Given the description of an element on the screen output the (x, y) to click on. 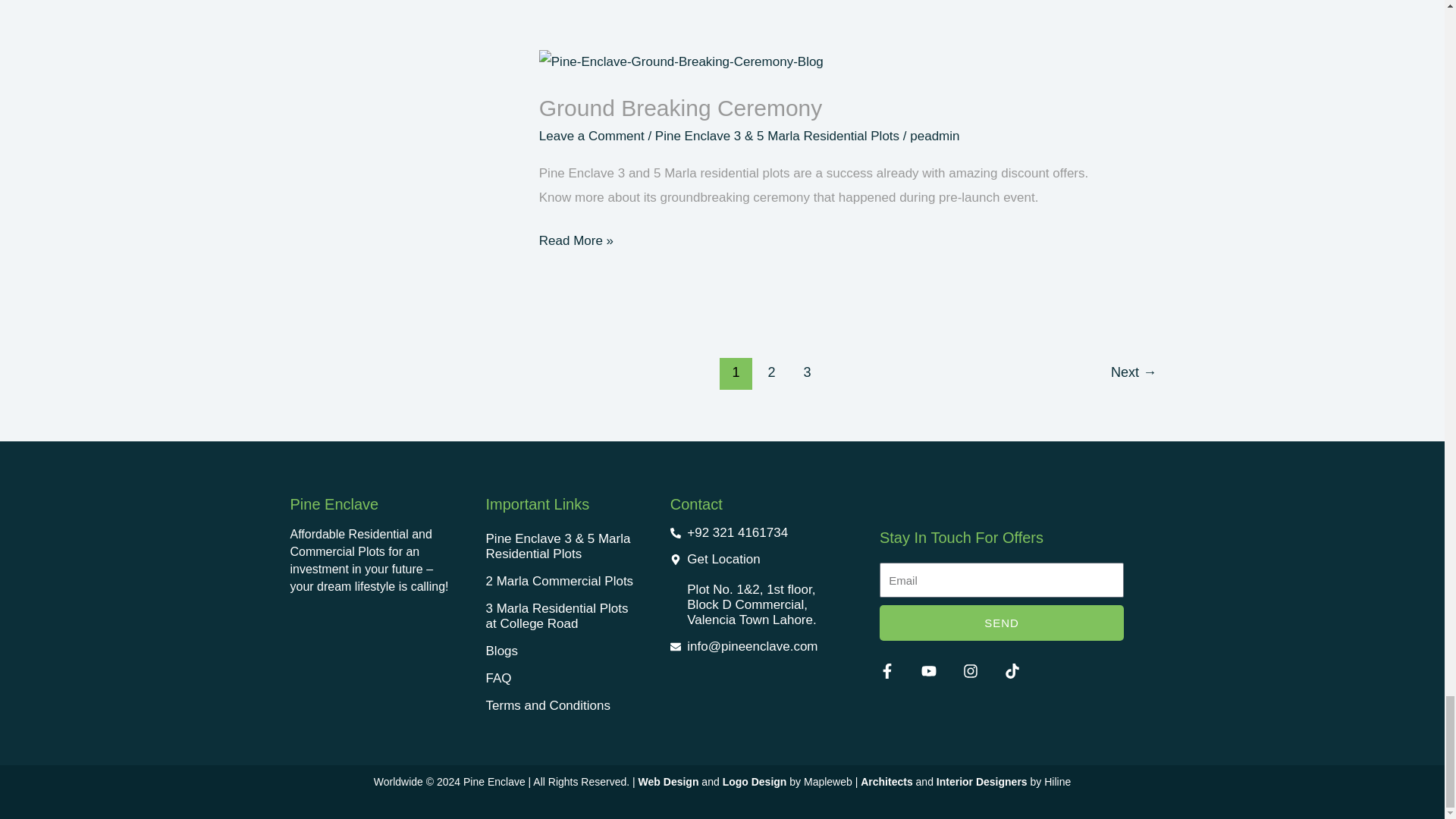
View all posts by peadmin (934, 135)
